Given the description of an element on the screen output the (x, y) to click on. 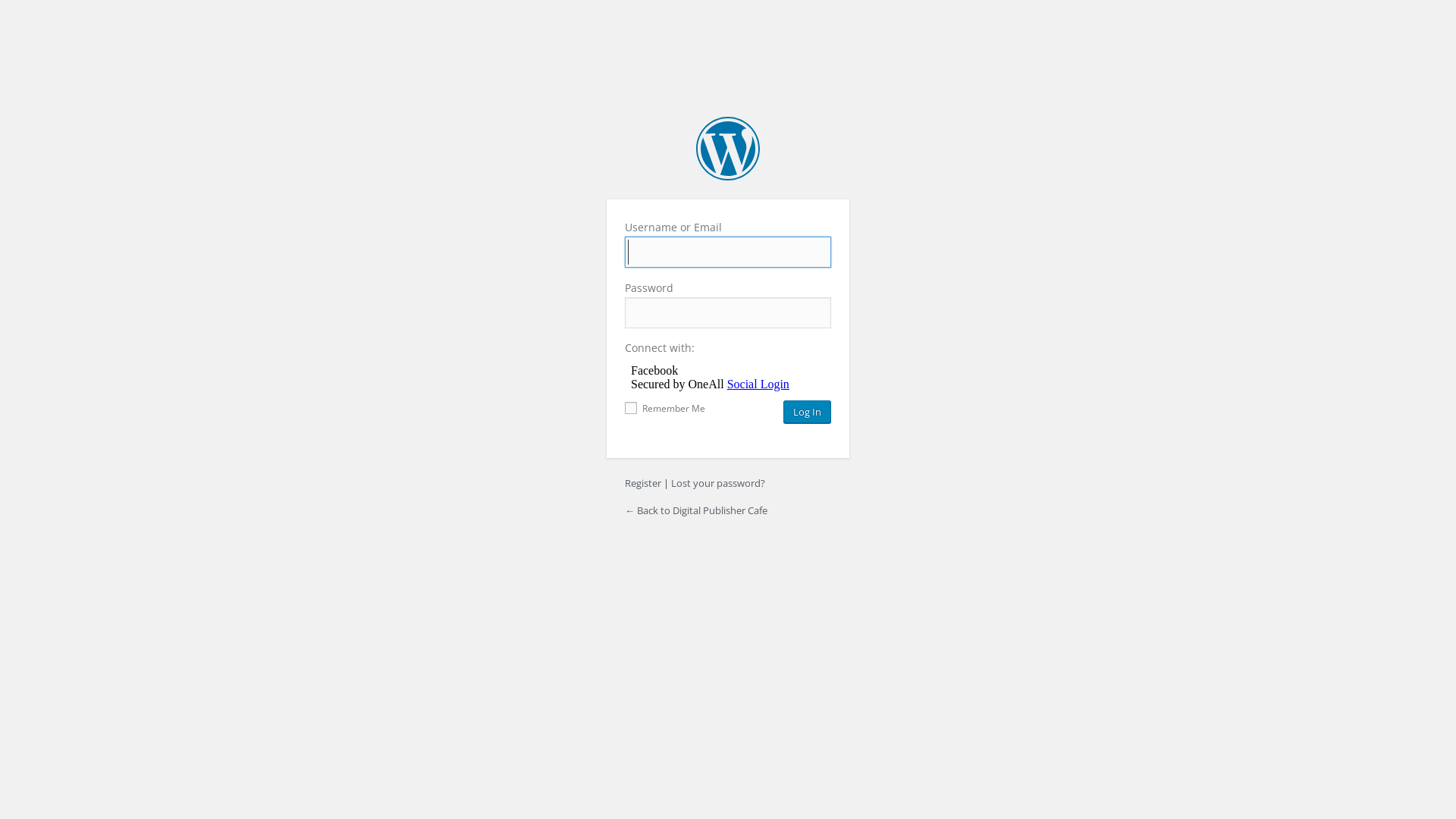
Digital Publisher Cafe Element type: text (727, 148)
Register Element type: text (642, 482)
Lost your password? Element type: text (718, 482)
Login with Social Networks Element type: hover (727, 377)
Log In Element type: text (807, 411)
